Given the description of an element on the screen output the (x, y) to click on. 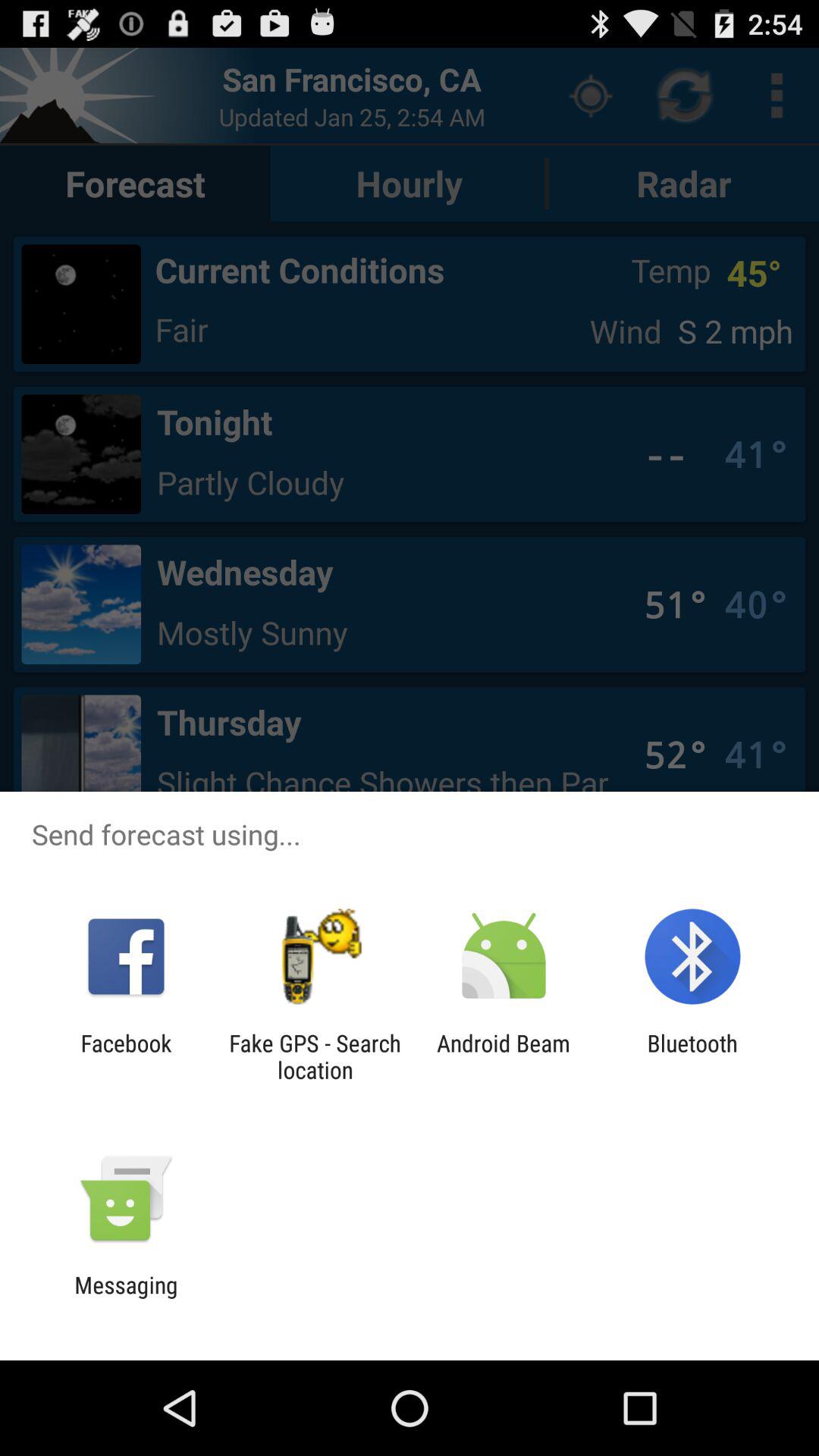
turn off fake gps search icon (314, 1056)
